Given the description of an element on the screen output the (x, y) to click on. 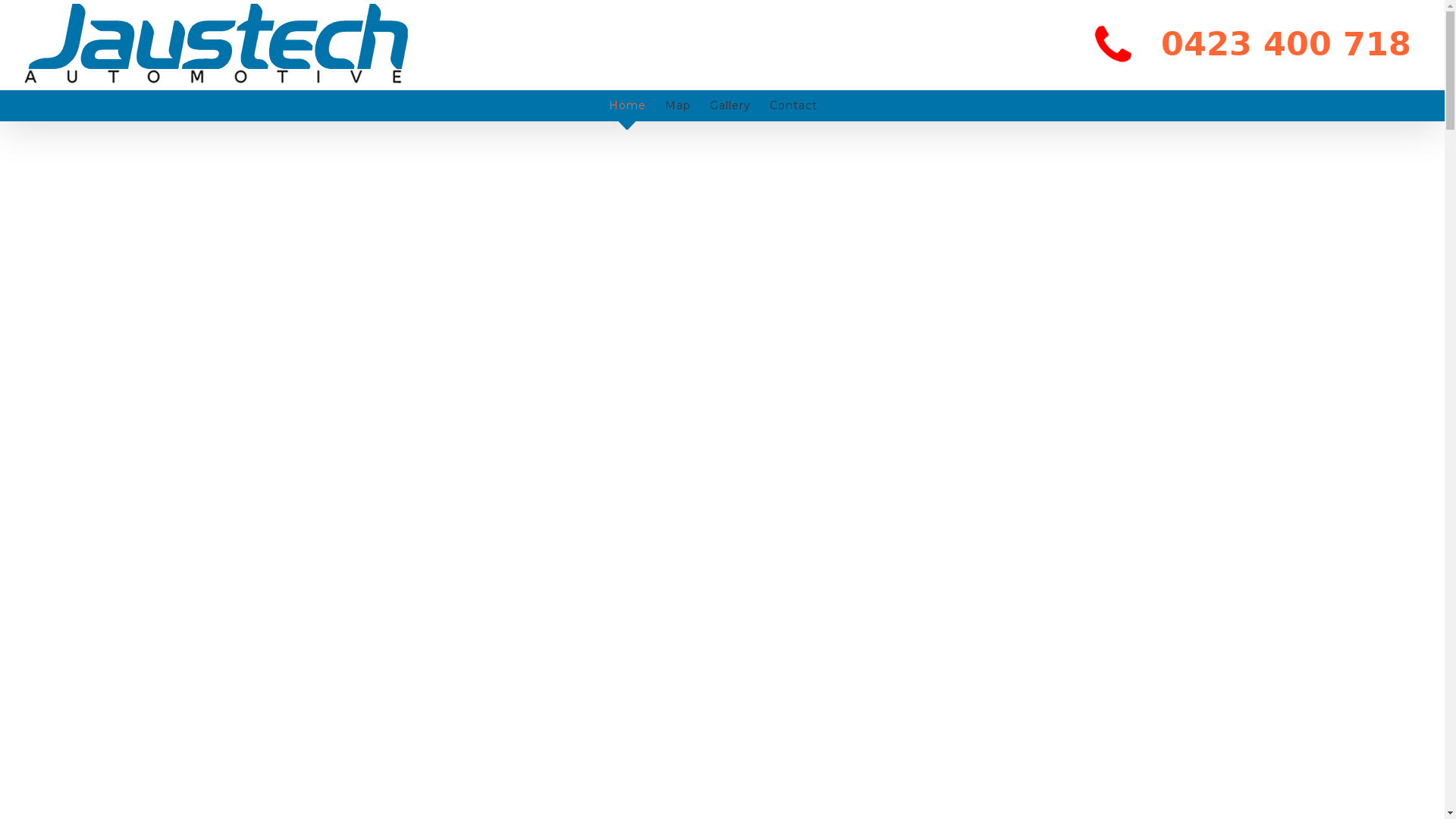
Contact Element type: text (792, 105)
Home Element type: text (626, 105)
Gallery Element type: text (729, 105)
Map Element type: text (677, 105)
